Given the description of an element on the screen output the (x, y) to click on. 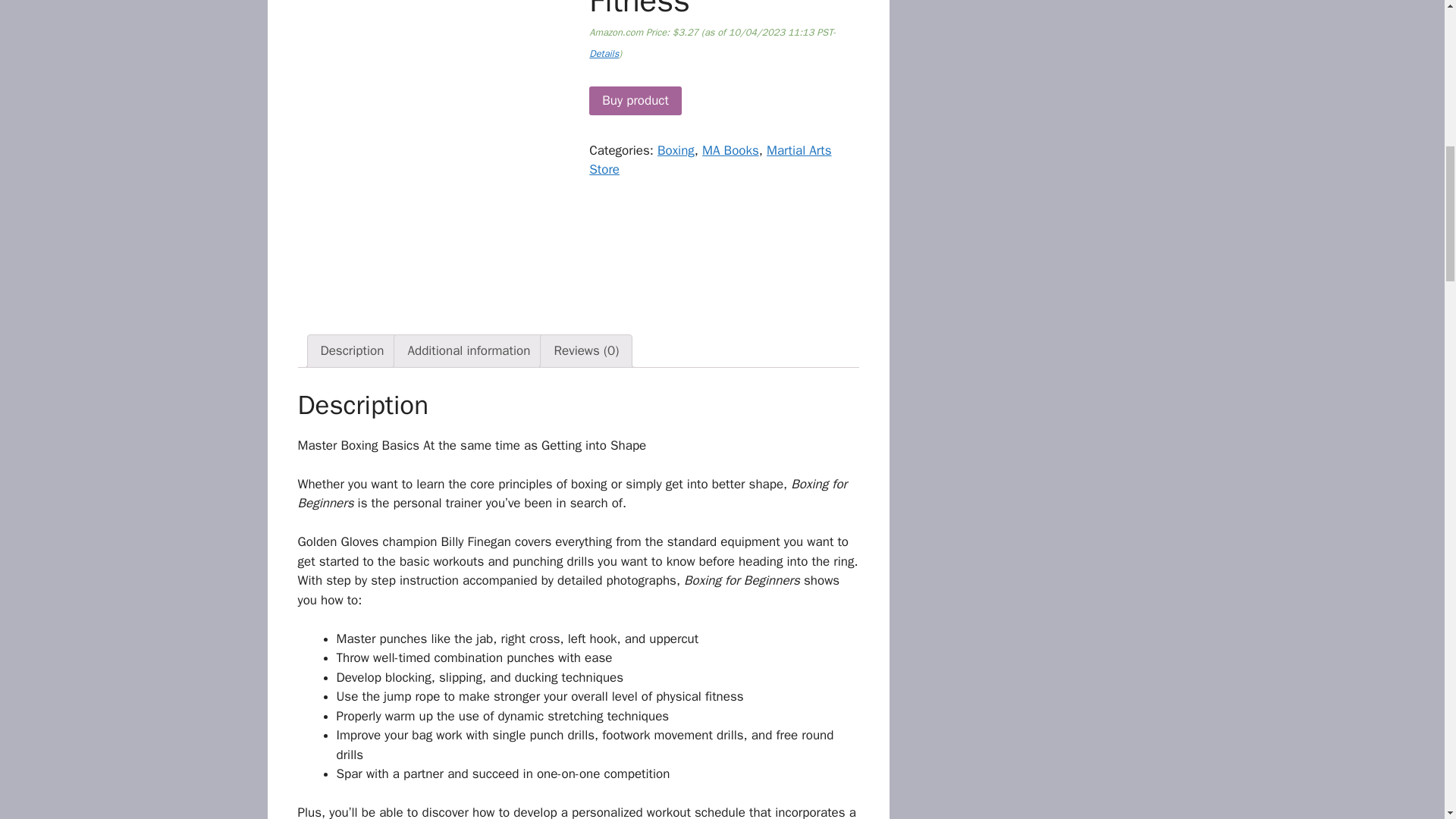
Additional information (468, 350)
Details (603, 53)
Martial Arts Store (710, 160)
Buy product (635, 100)
MA Books (729, 150)
Description (352, 350)
Boxing (676, 150)
